Given the description of an element on the screen output the (x, y) to click on. 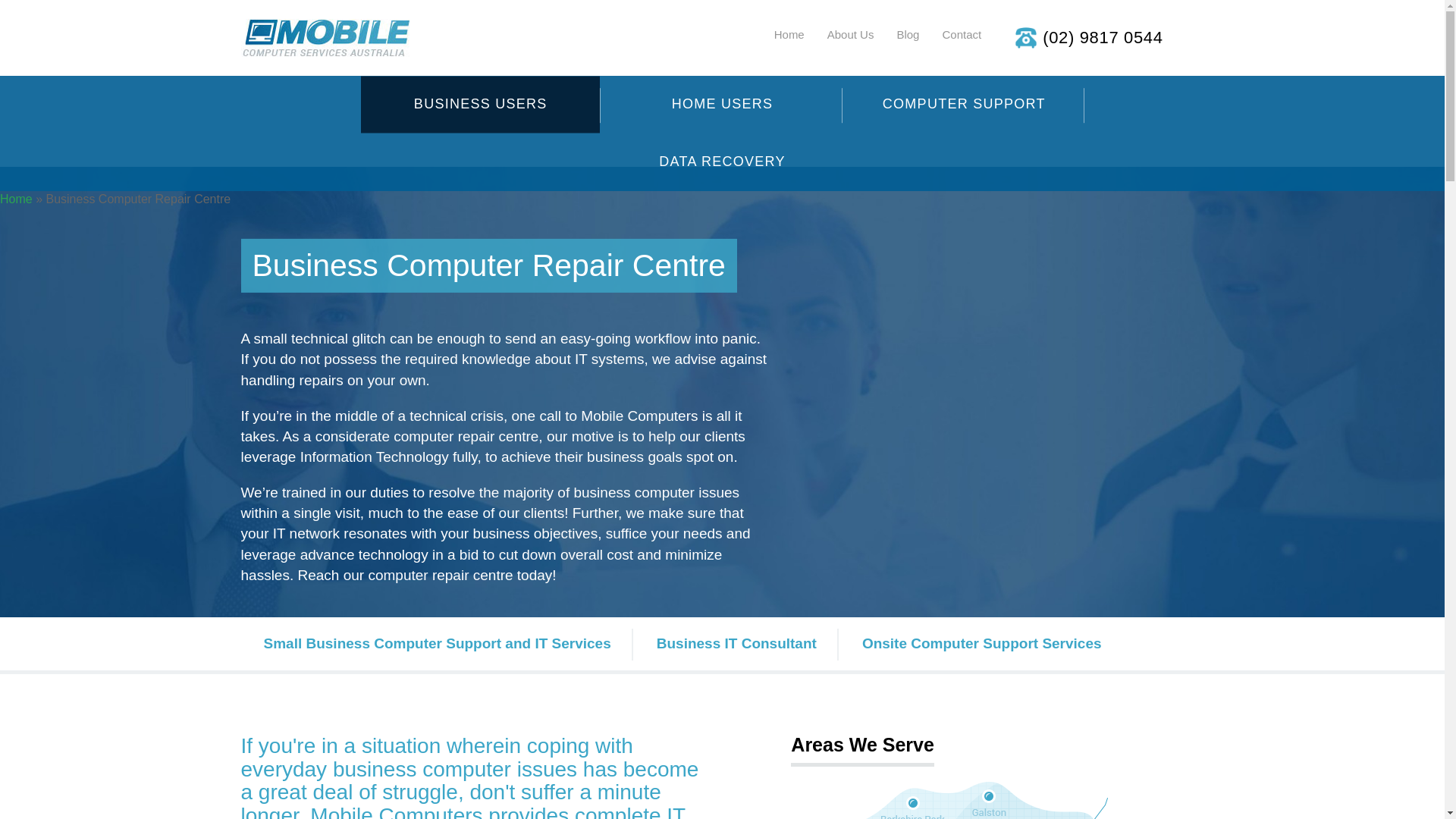
Home Element type: text (788, 34)
Onsite Computer Support Services Element type: text (981, 643)
HOME USERS Element type: text (721, 103)
BUSINESS USERS Element type: text (479, 103)
Business IT Consultant Element type: text (736, 643)
Home Element type: text (16, 198)
About Us Element type: text (850, 34)
Contact Element type: text (961, 34)
DATA RECOVERY Element type: text (721, 161)
Small Business Computer Support and IT Services Element type: text (437, 643)
Blog Element type: text (907, 34)
COMPUTER SUPPORT Element type: text (963, 103)
(02) 9817 0544 Element type: text (1092, 37)
